Given the description of an element on the screen output the (x, y) to click on. 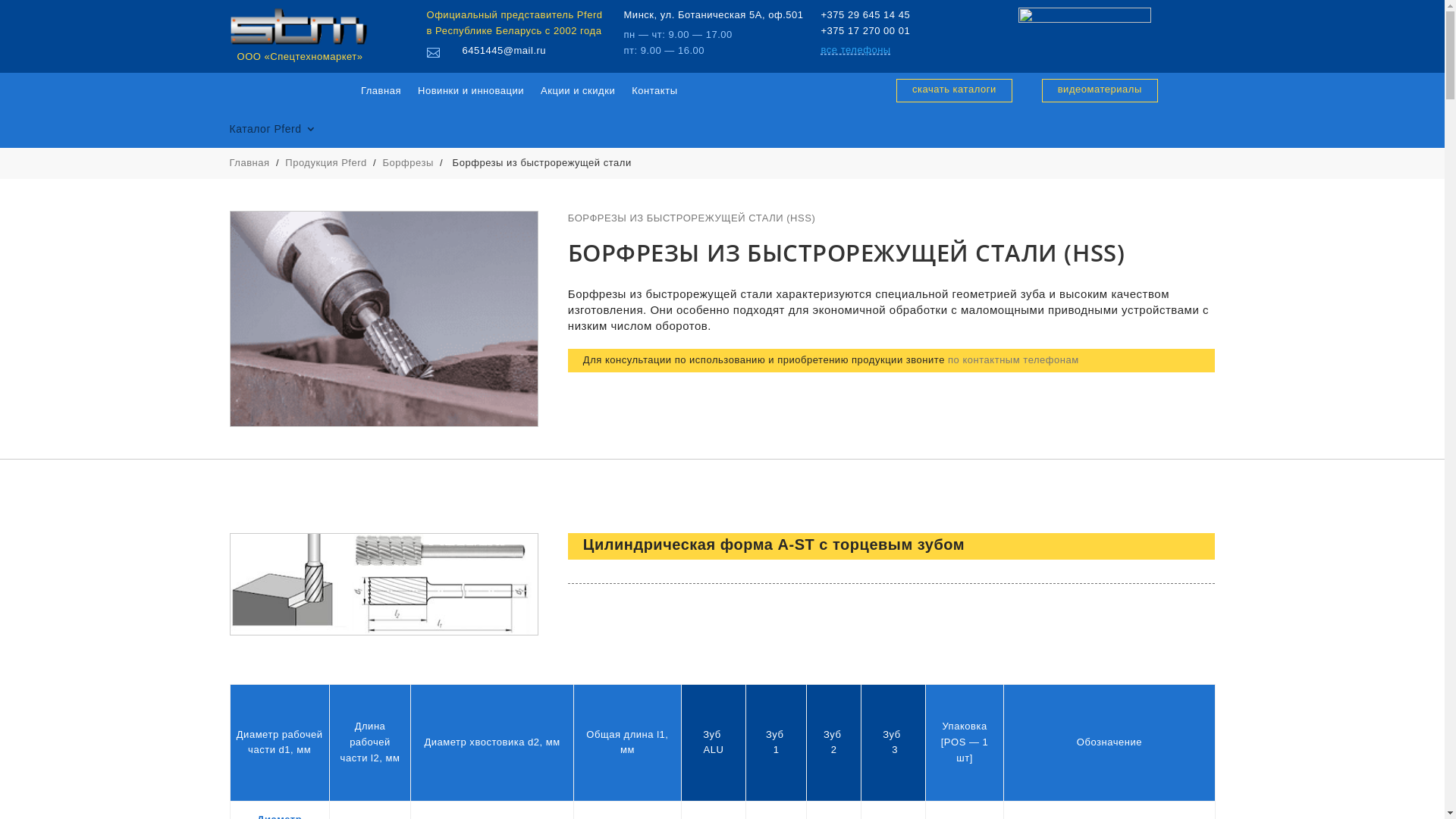
6451445@mail.ru Element type: text (504, 50)
logo_big2 Element type: hover (298, 26)
+375 17 270 00 01 Element type: text (865, 30)
A-ST Element type: hover (383, 583)
Screenshot_1 Element type: hover (383, 318)
+375 29 645 14 45 Element type: text (865, 14)
Logo_PFERD-VSM_highres Element type: hover (1083, 22)
